Given the description of an element on the screen output the (x, y) to click on. 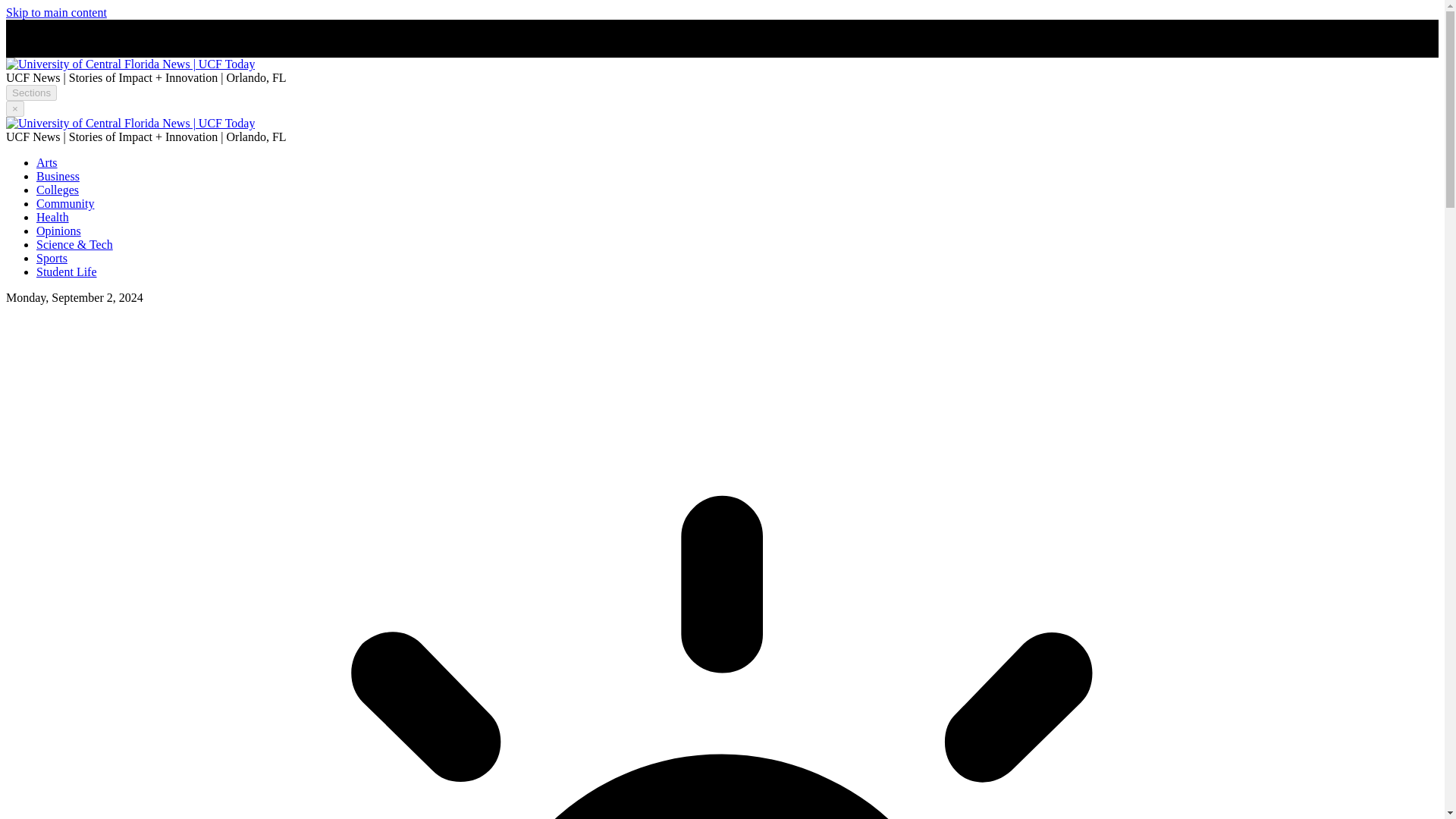
Sections (30, 92)
Arts (47, 162)
Skip to main content (55, 11)
Student Life (66, 271)
Business (58, 175)
Community (65, 203)
Colleges (57, 189)
Health (52, 216)
Opinions (58, 230)
Sports (51, 257)
